Given the description of an element on the screen output the (x, y) to click on. 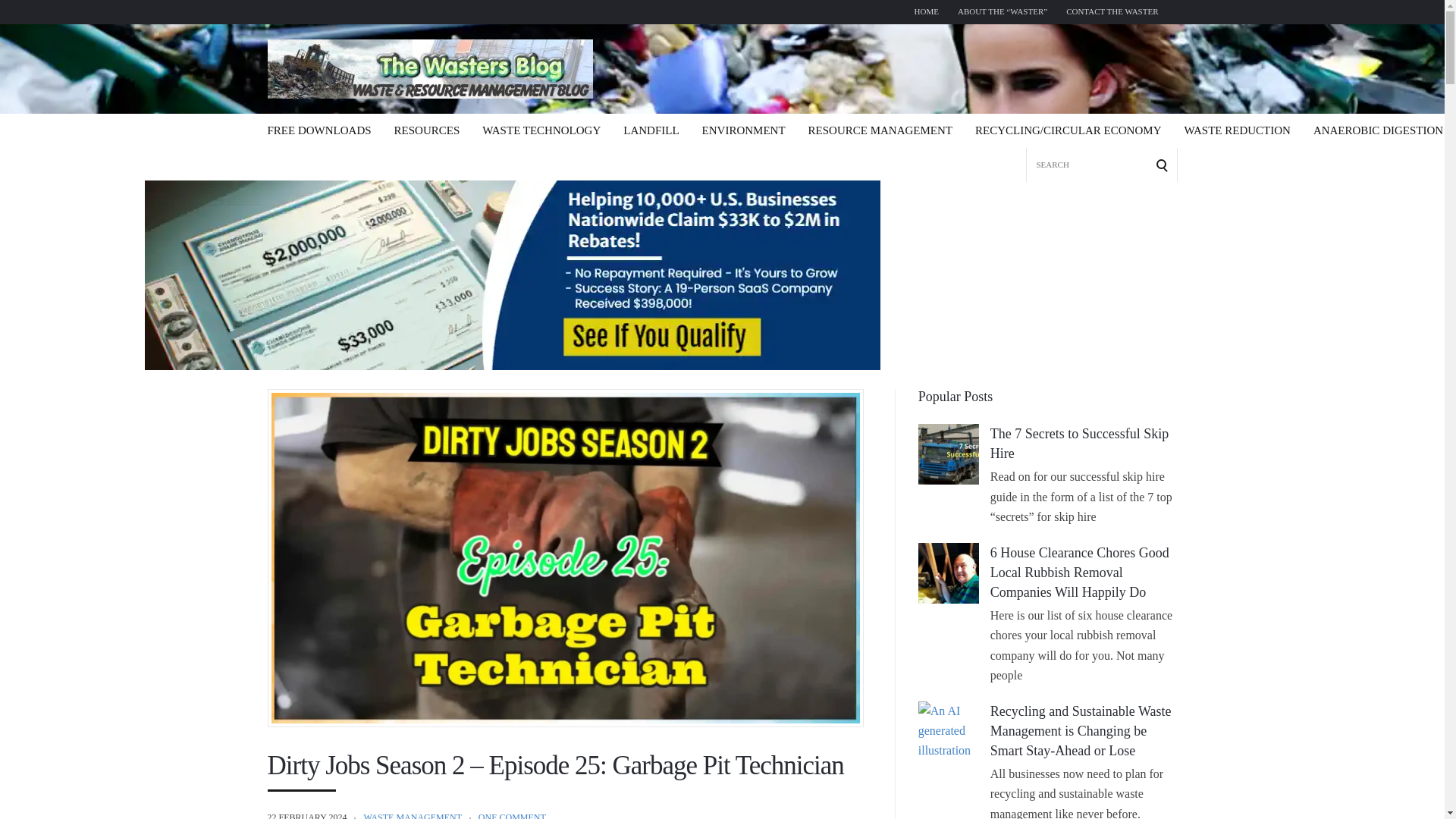
ANAEROBIC DIGESTION (1377, 130)
RESOURCE MANAGEMENT (880, 130)
ONE COMMENT (512, 815)
LANDFILL (650, 130)
RESOURCES (427, 130)
WASTE TECHNOLOGY (540, 130)
Search (1146, 144)
Search (16, 17)
ENVIRONMENT (743, 130)
HOME (926, 11)
FREE DOWNLOADS (318, 130)
WASTE MANAGEMENT (411, 815)
WASTE REDUCTION (1236, 130)
CONTACT THE WASTER (1111, 11)
